Given the description of an element on the screen output the (x, y) to click on. 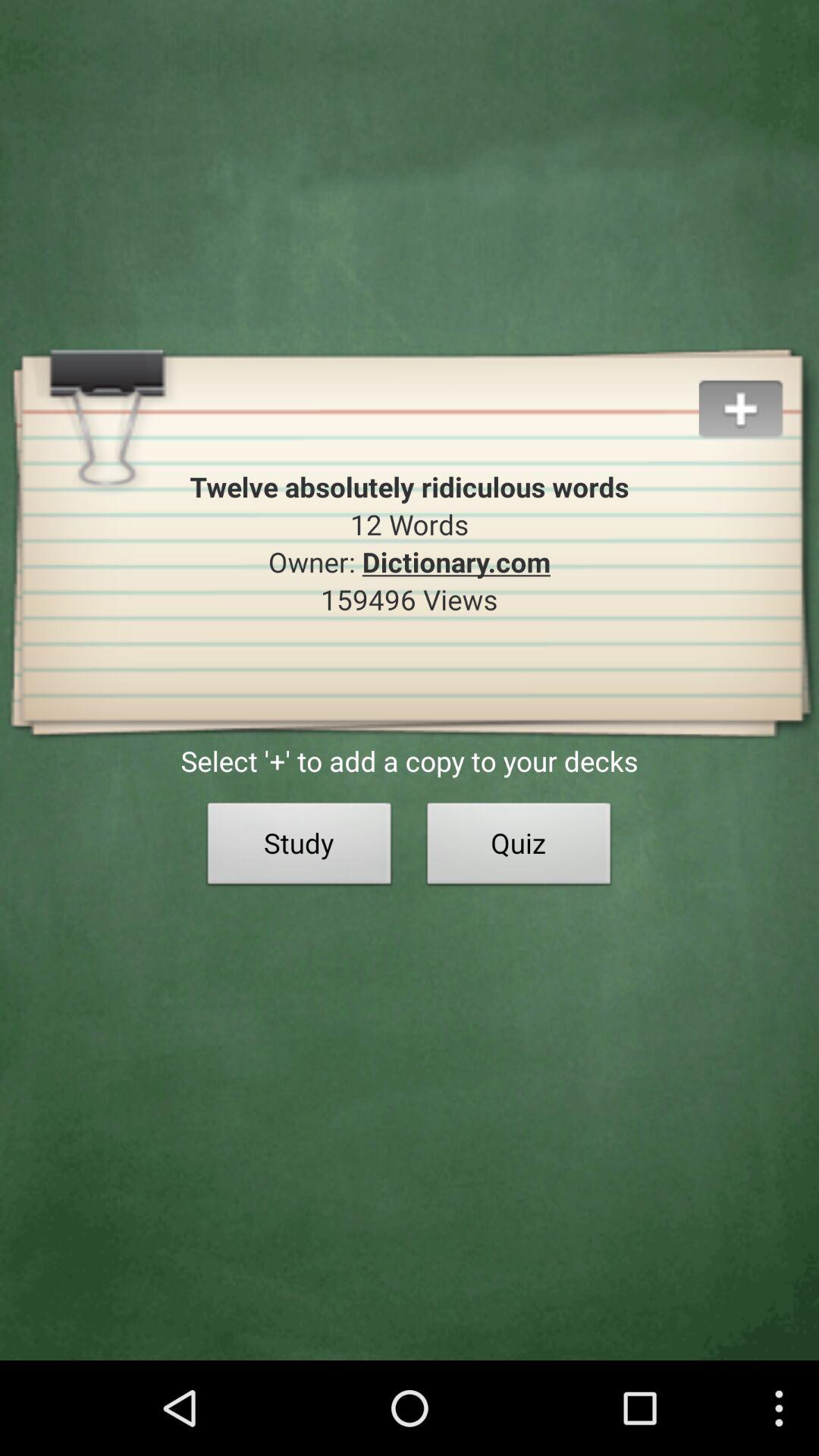
add a copy to your deck (758, 391)
